Given the description of an element on the screen output the (x, y) to click on. 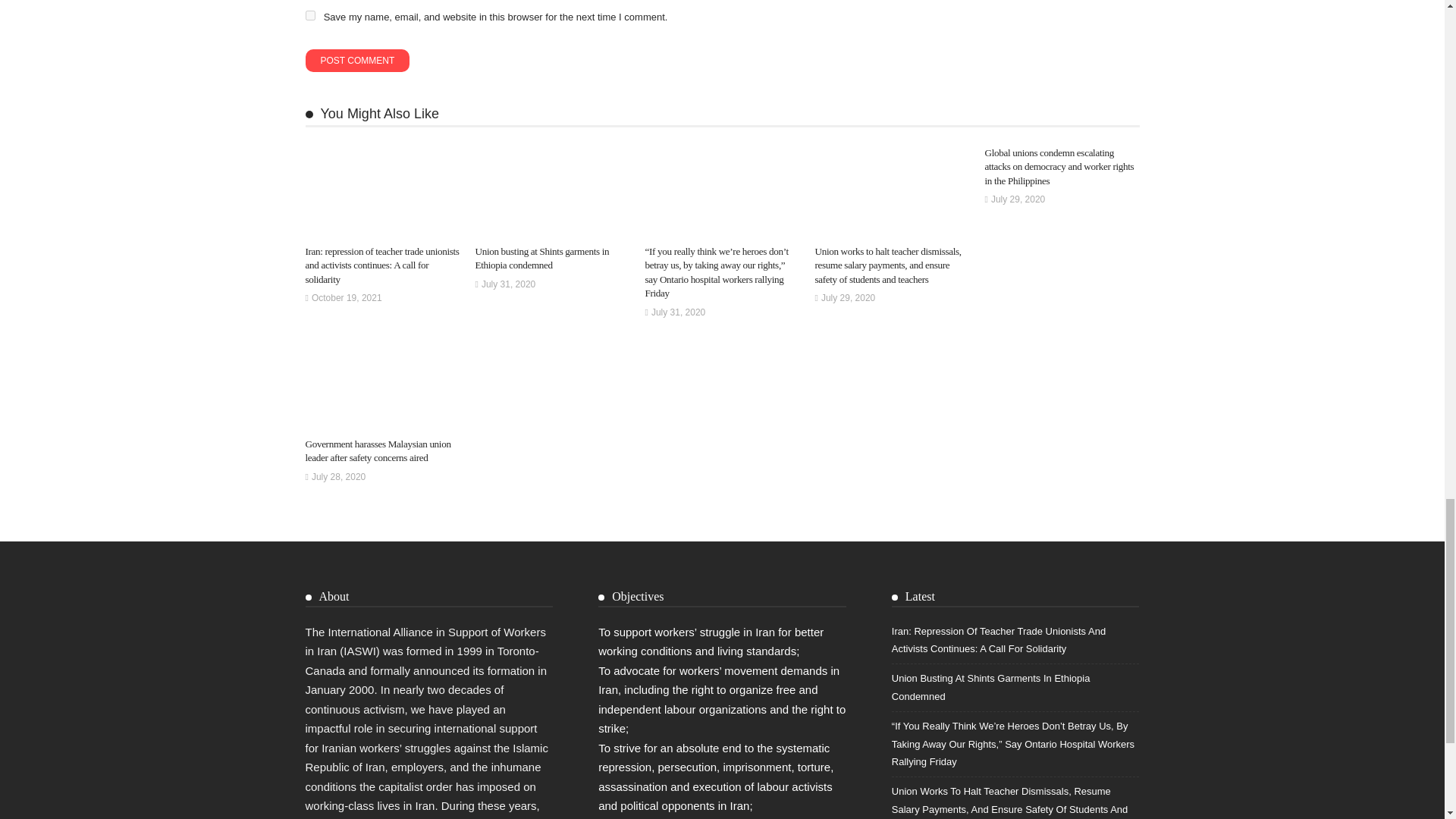
yes (309, 15)
Post Comment (356, 60)
